Given the description of an element on the screen output the (x, y) to click on. 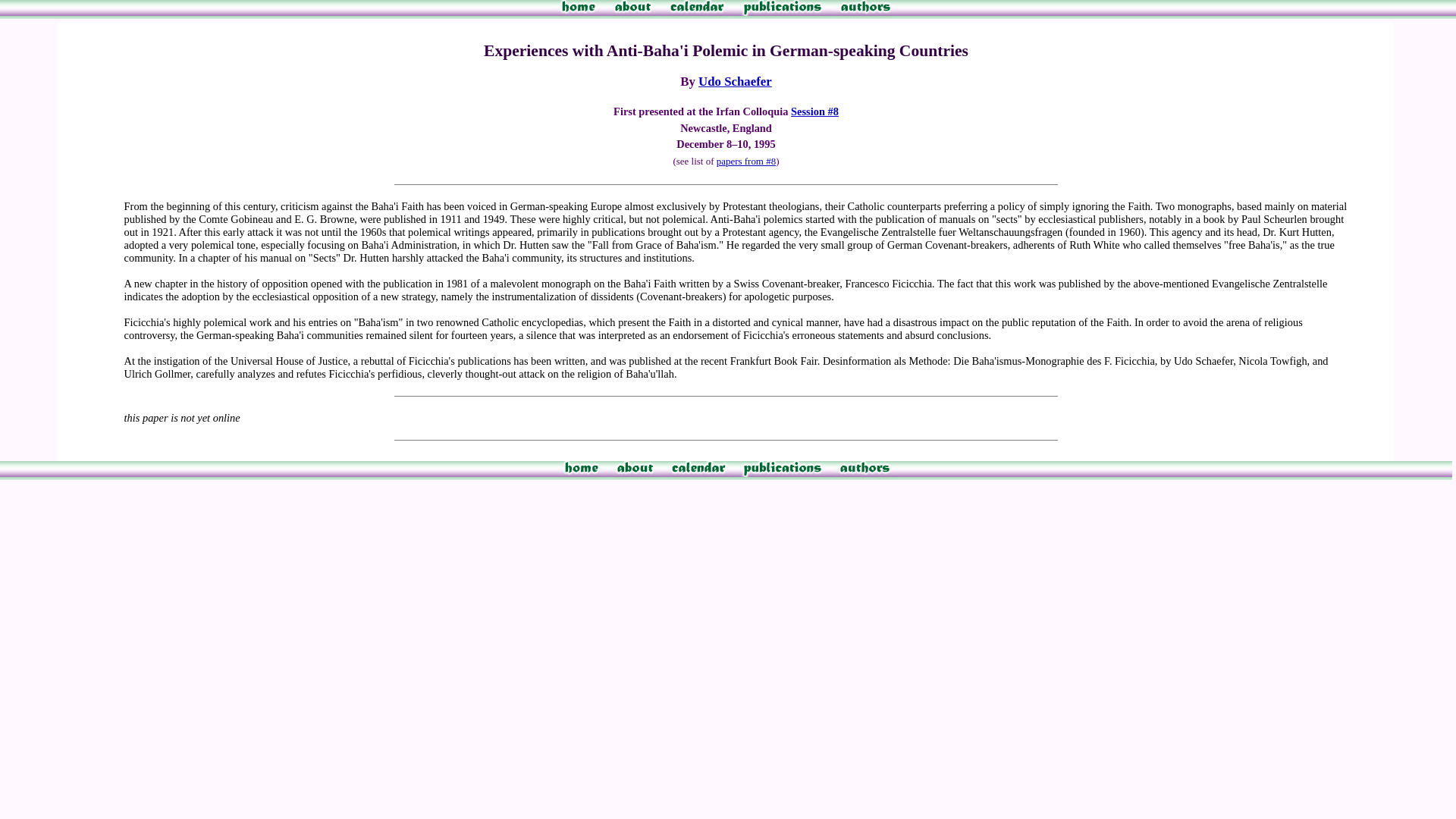
Udo Schaefer (734, 81)
